Given the description of an element on the screen output the (x, y) to click on. 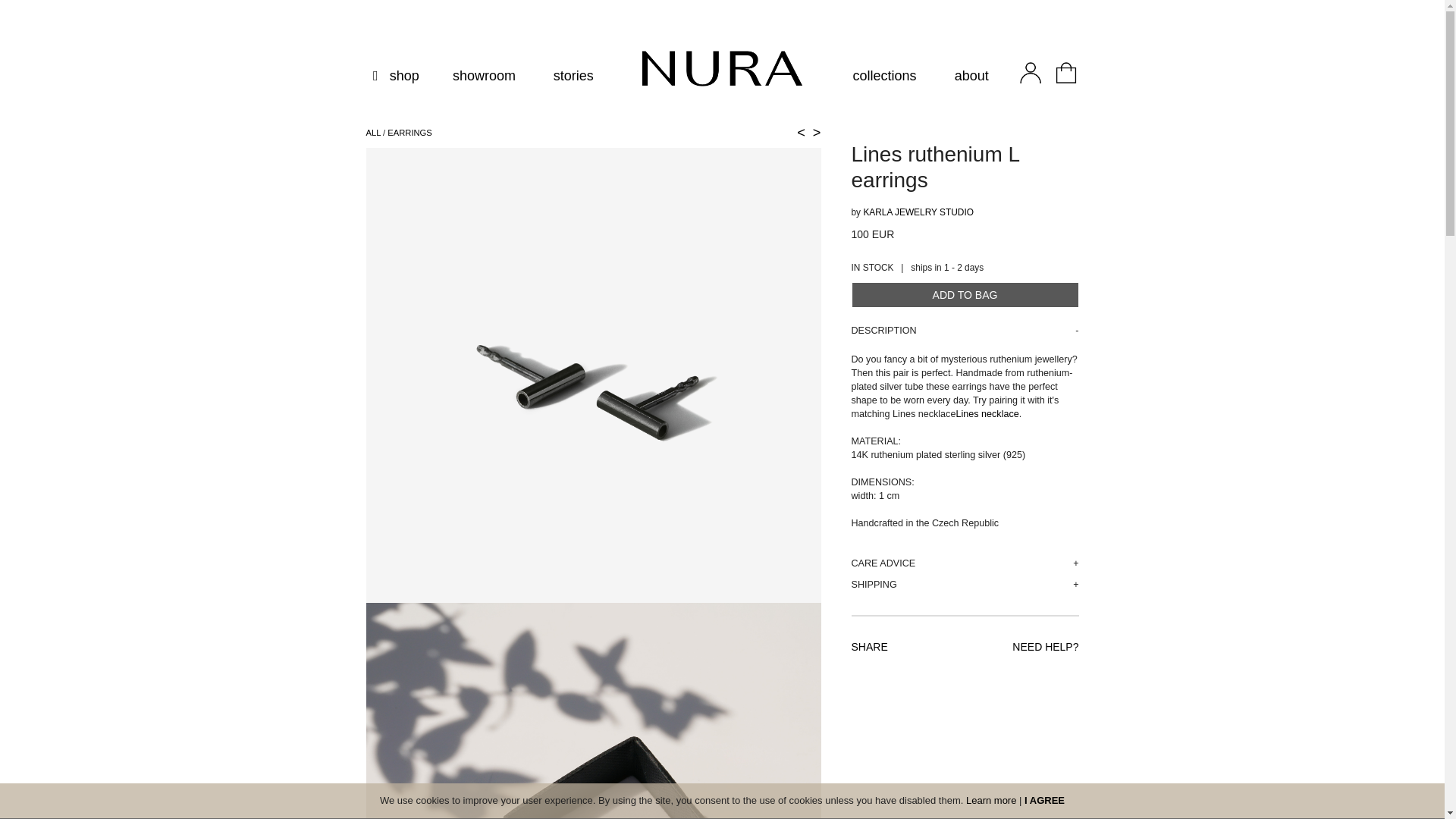
NEED HELP? (1044, 646)
Learn more (991, 799)
EARRINGS (408, 132)
collections (885, 76)
about (971, 76)
  shop (395, 76)
Lines necklace (986, 413)
SHARE (868, 646)
showroom (483, 76)
KARLA JEWELRY STUDIO (918, 212)
